Given the description of an element on the screen output the (x, y) to click on. 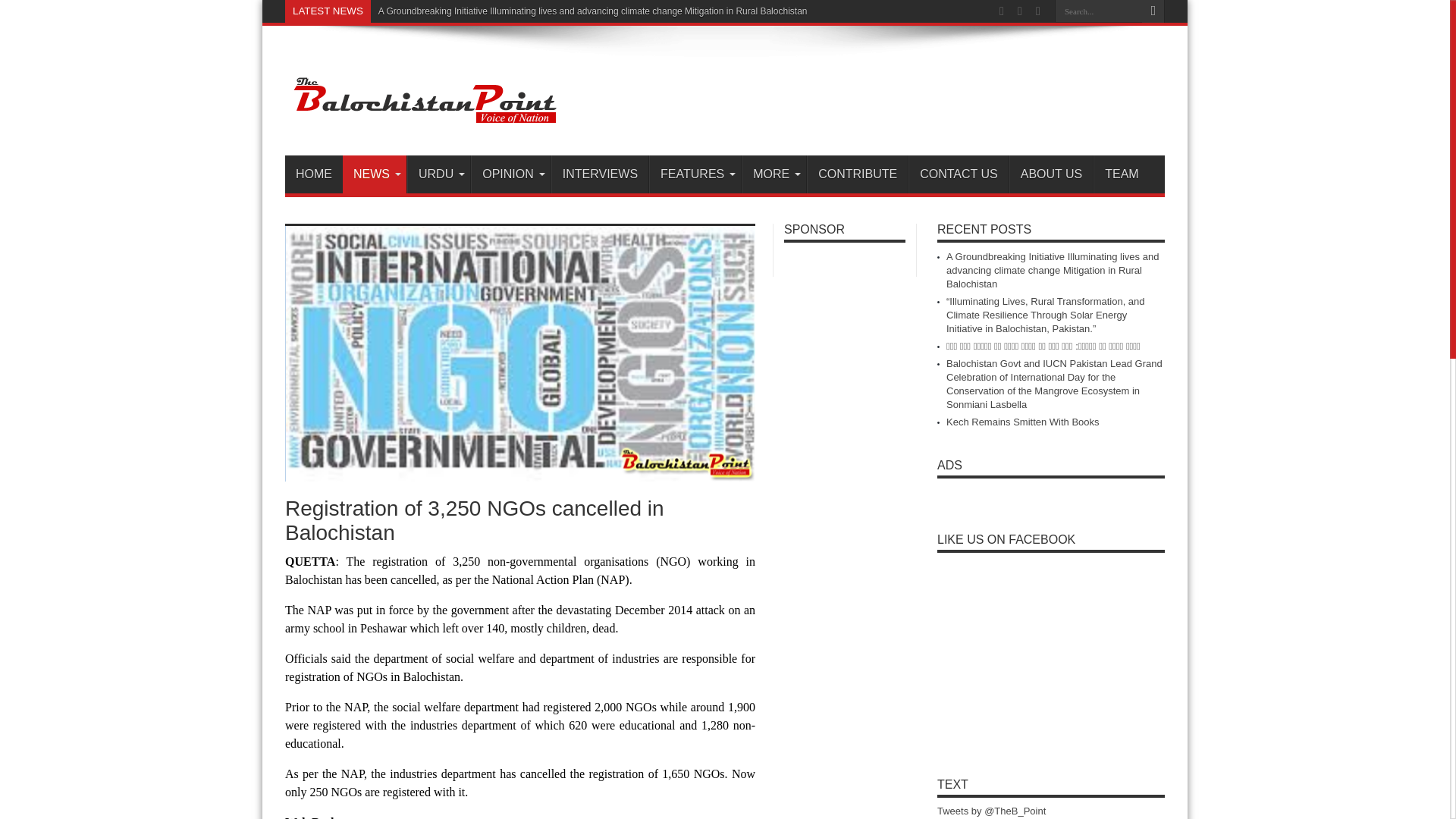
OPINION (510, 174)
Search (1152, 11)
NEWS (374, 174)
CONTACT US (958, 174)
TEAM (1120, 174)
MORE (773, 174)
HOME (313, 174)
FEATURES (695, 174)
CONTRIBUTE (856, 174)
Search... (1097, 11)
